Given the description of an element on the screen output the (x, y) to click on. 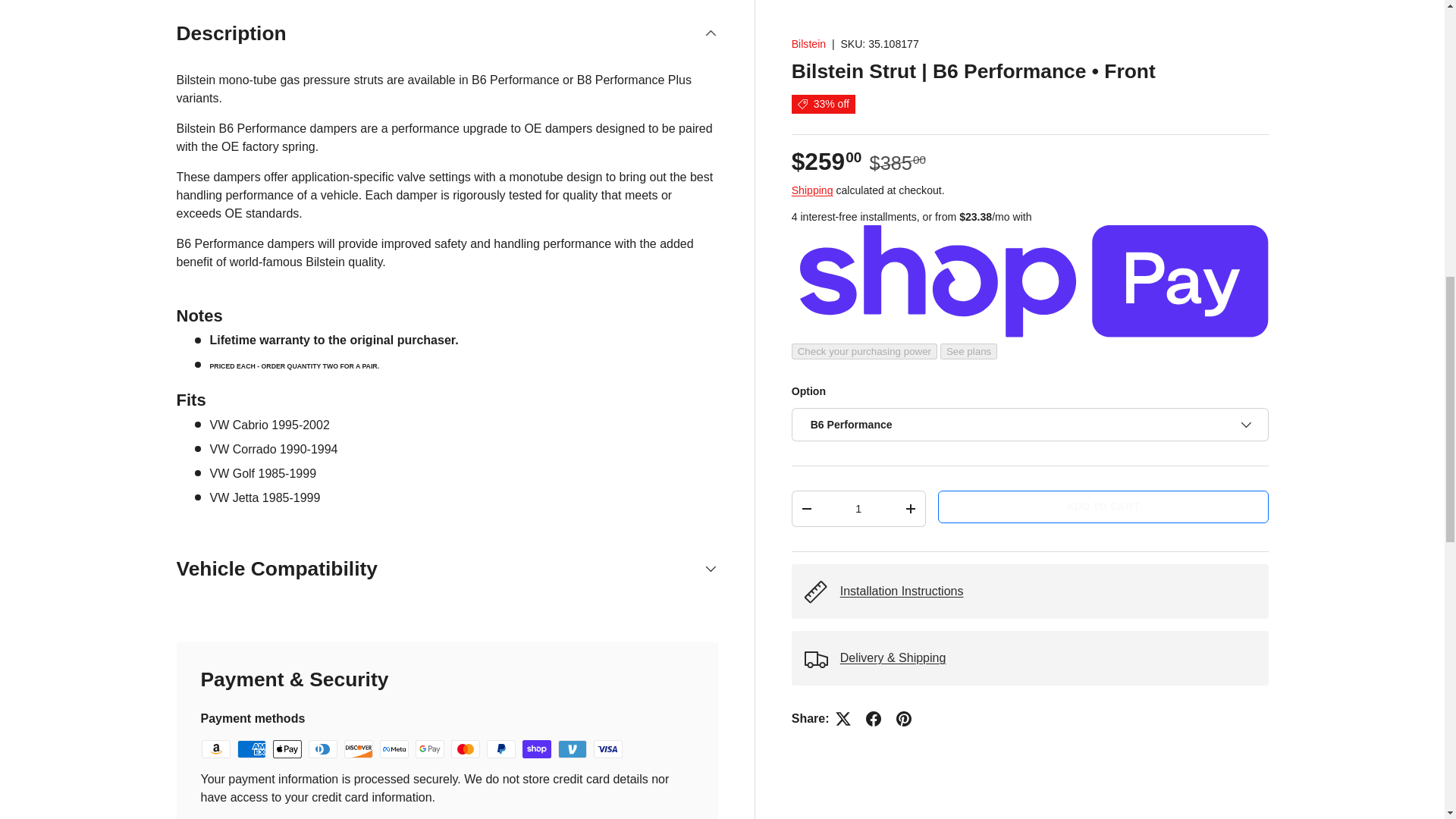
Share on Facebook (873, 110)
Tweet on X (843, 110)
Pin on Pinterest (903, 110)
